Given the description of an element on the screen output the (x, y) to click on. 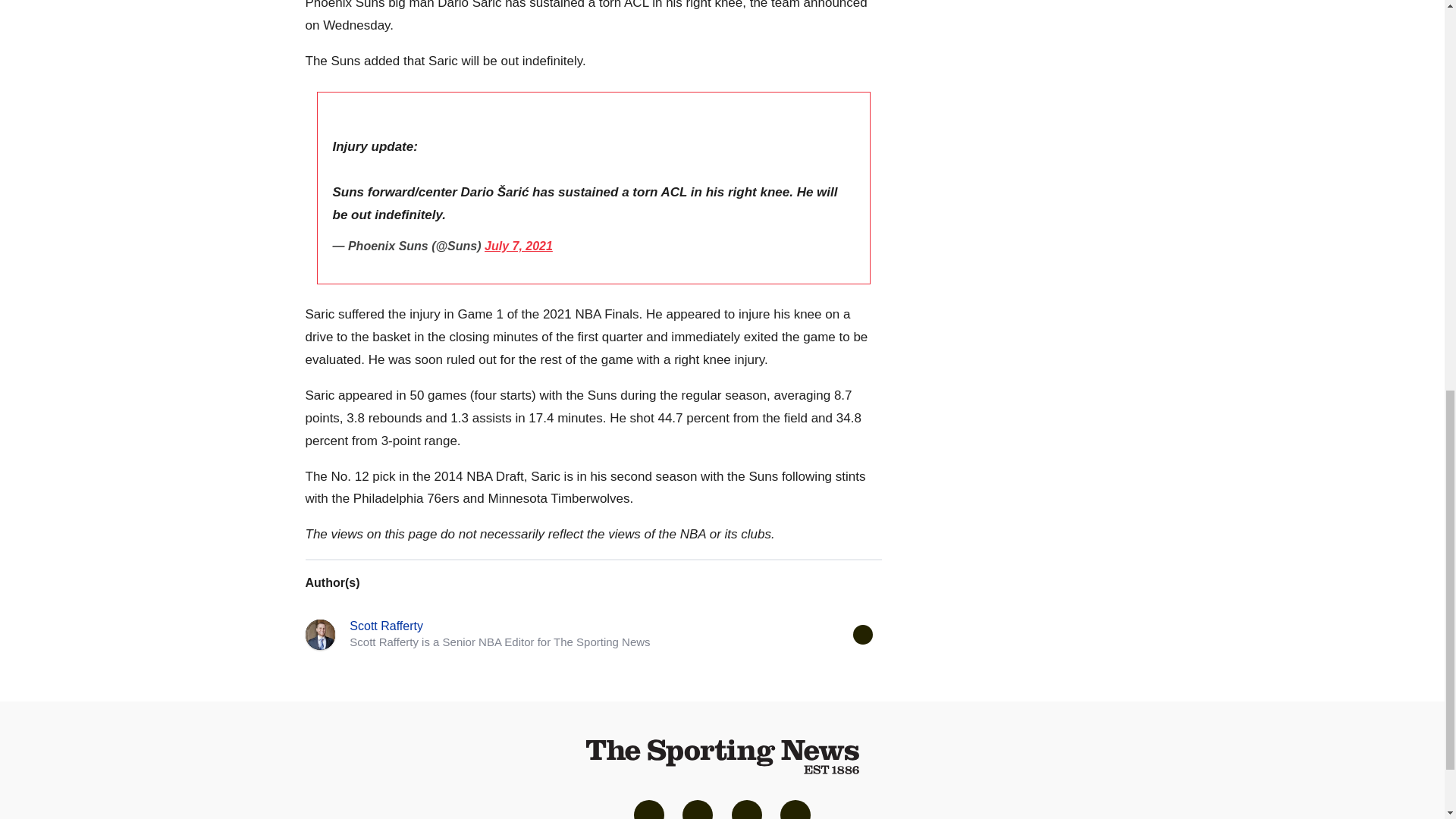
Open the author page on Twitter (861, 634)
